Given the description of an element on the screen output the (x, y) to click on. 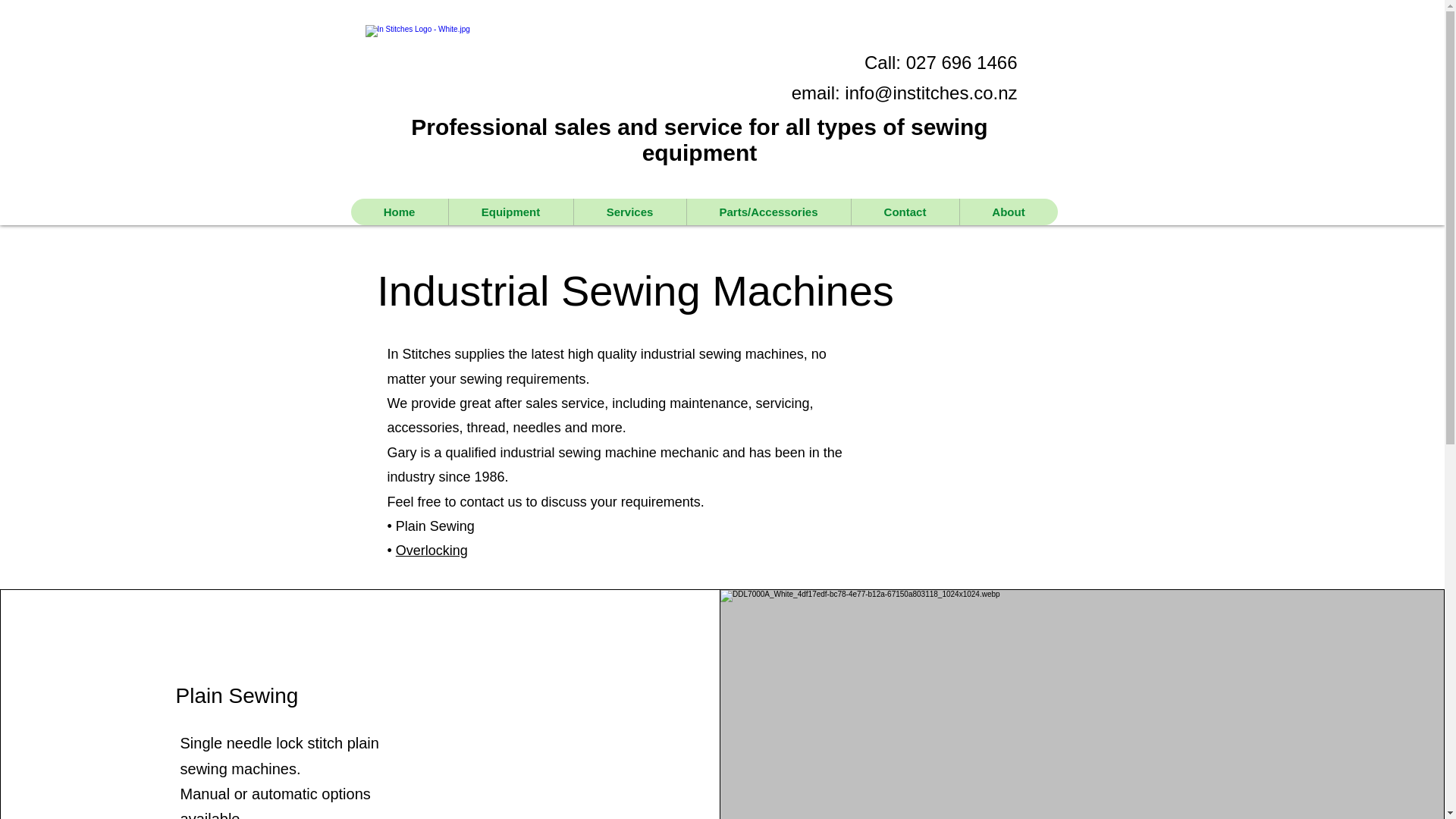
Home (398, 212)
About (1007, 212)
Overlocking (431, 549)
Contact (904, 212)
Services (629, 212)
